Given the description of an element on the screen output the (x, y) to click on. 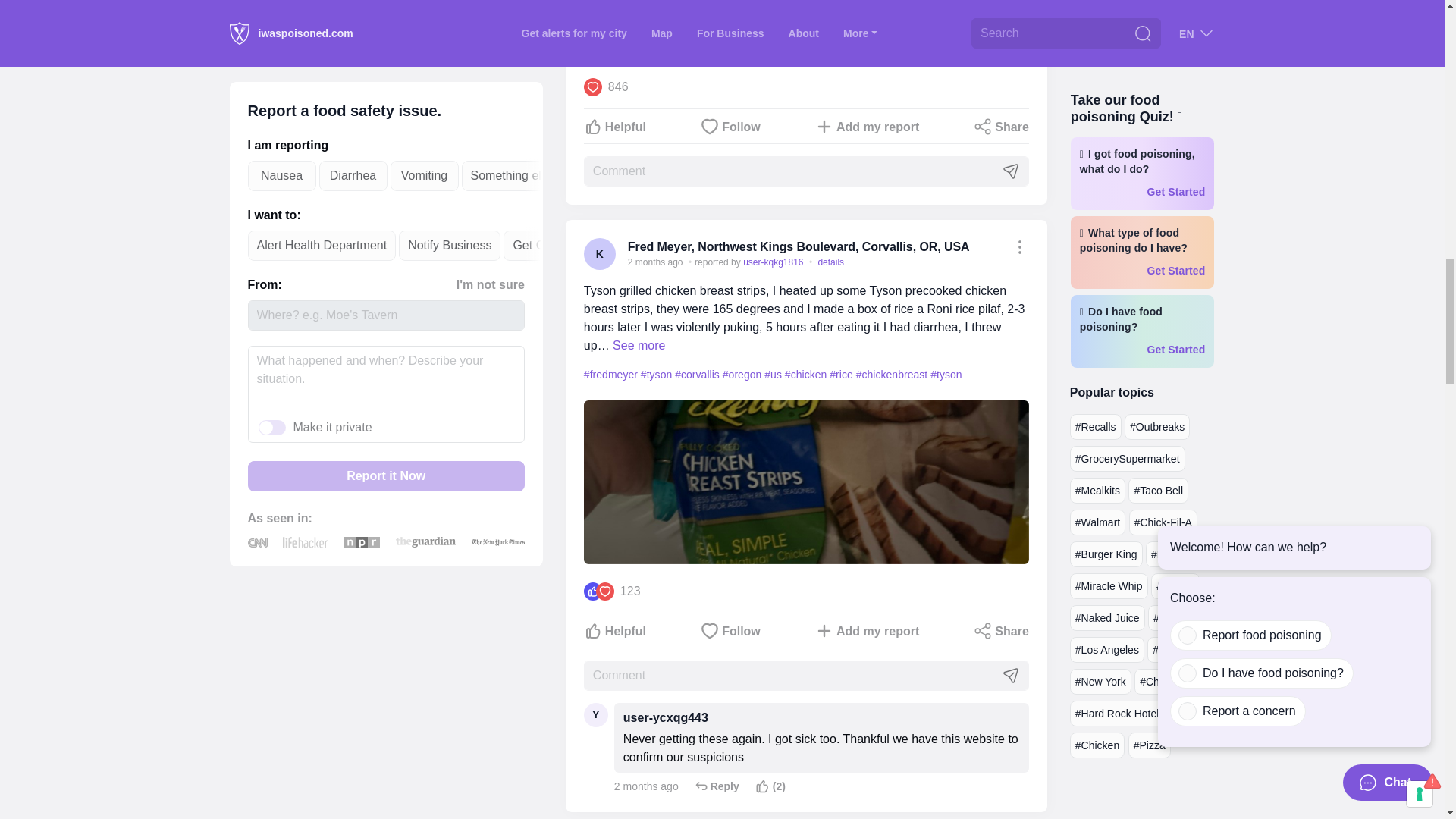
Copied (1019, 247)
Fred Meyer, Northwest Kings Boulevard, Corvallis, OR, USA (798, 246)
